Given the description of an element on the screen output the (x, y) to click on. 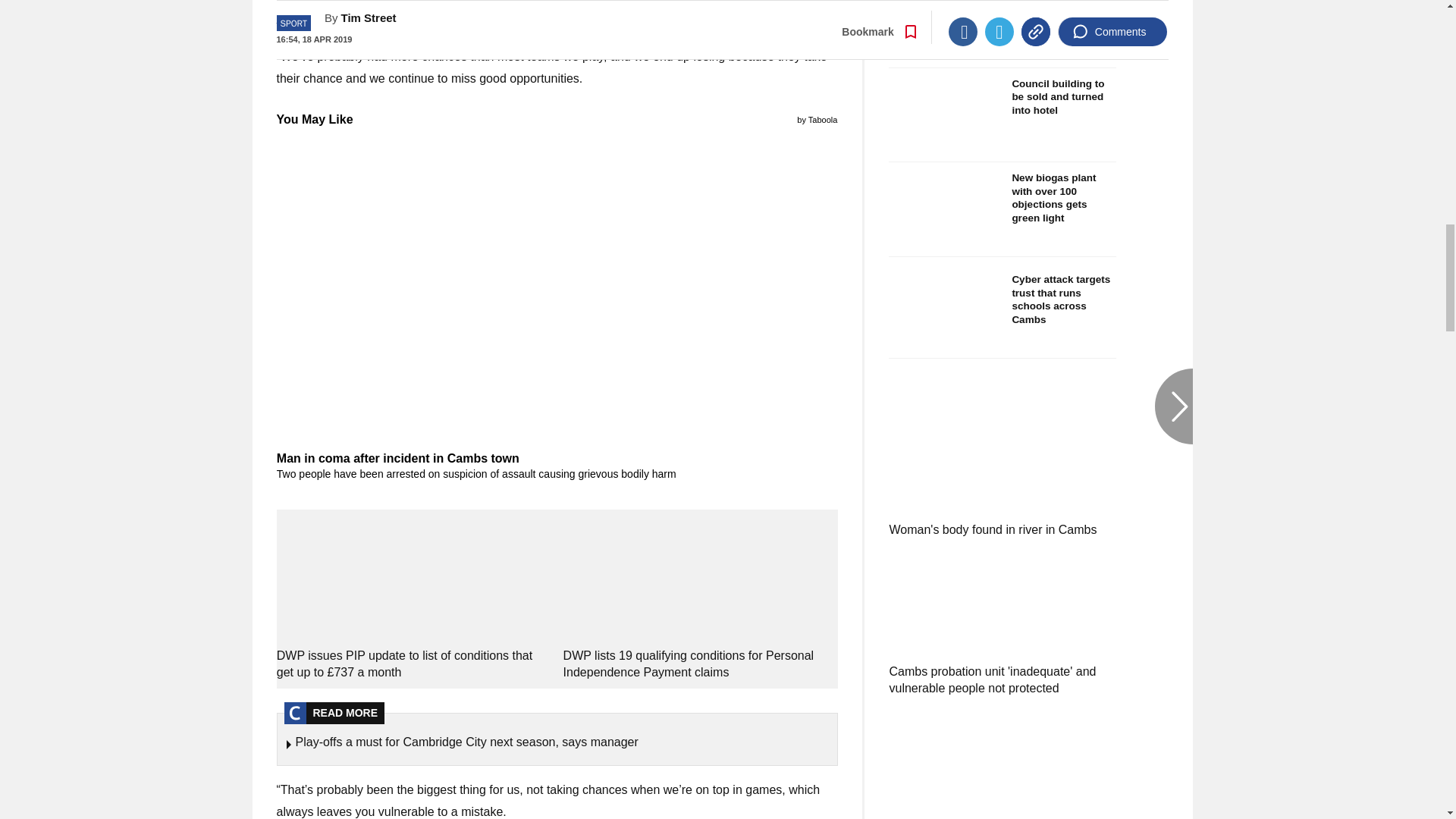
Man in coma after incident in Cambs town (557, 465)
